Given the description of an element on the screen output the (x, y) to click on. 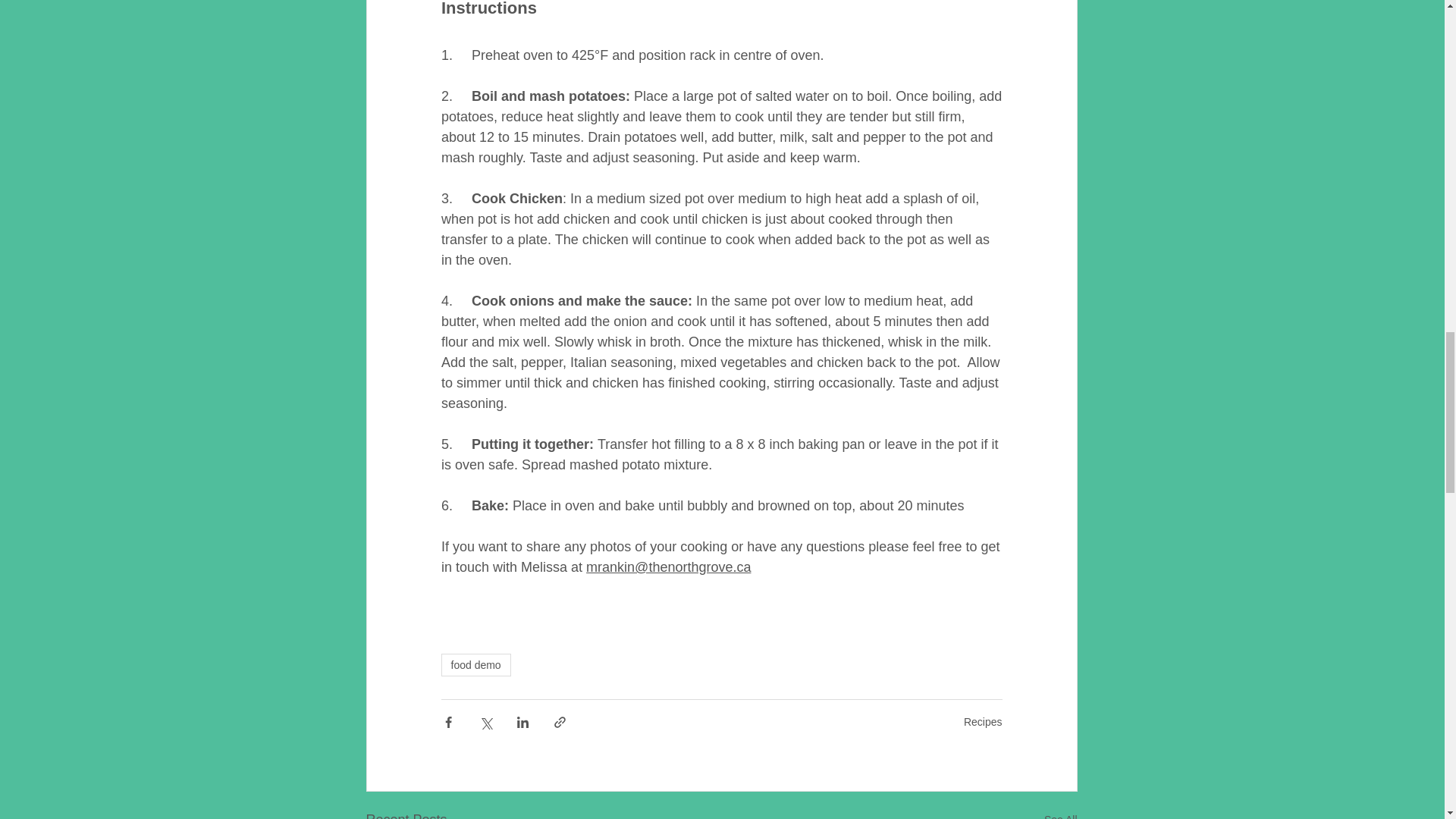
food demo (476, 664)
Recipes (983, 721)
See All (1060, 814)
